Given the description of an element on the screen output the (x, y) to click on. 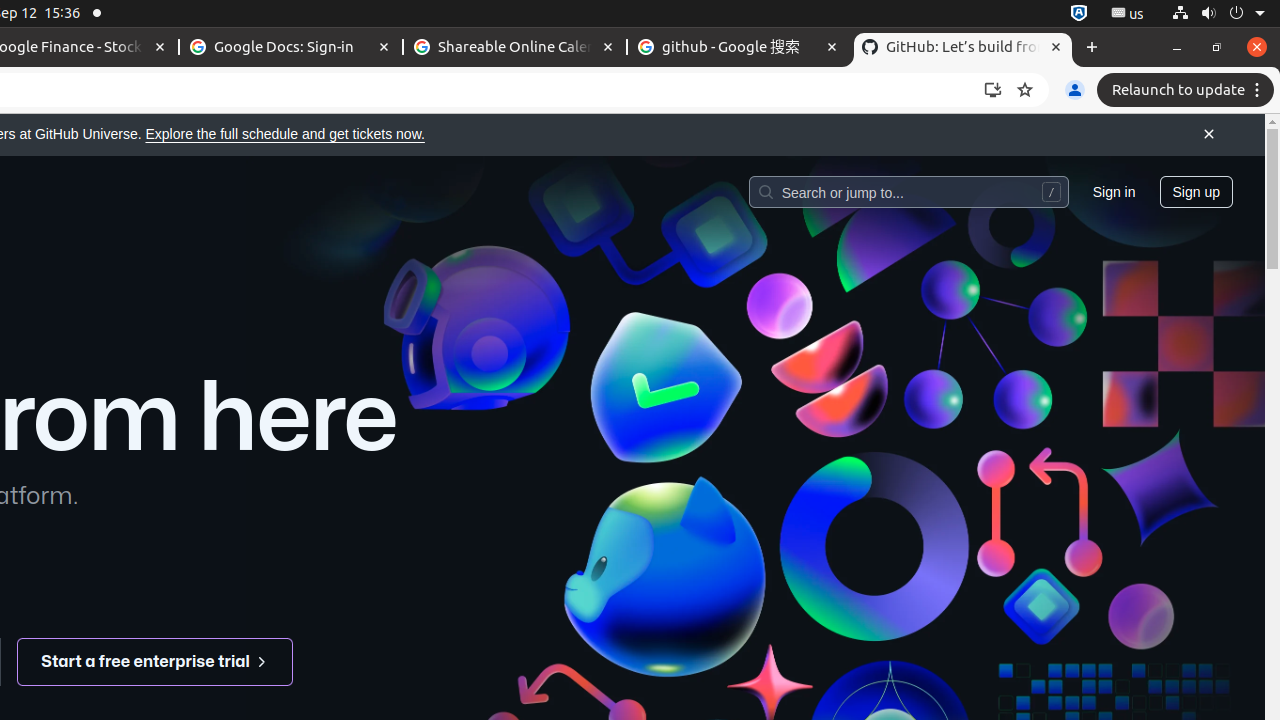
Install GitHub Element type: push-button (993, 90)
